Given the description of an element on the screen output the (x, y) to click on. 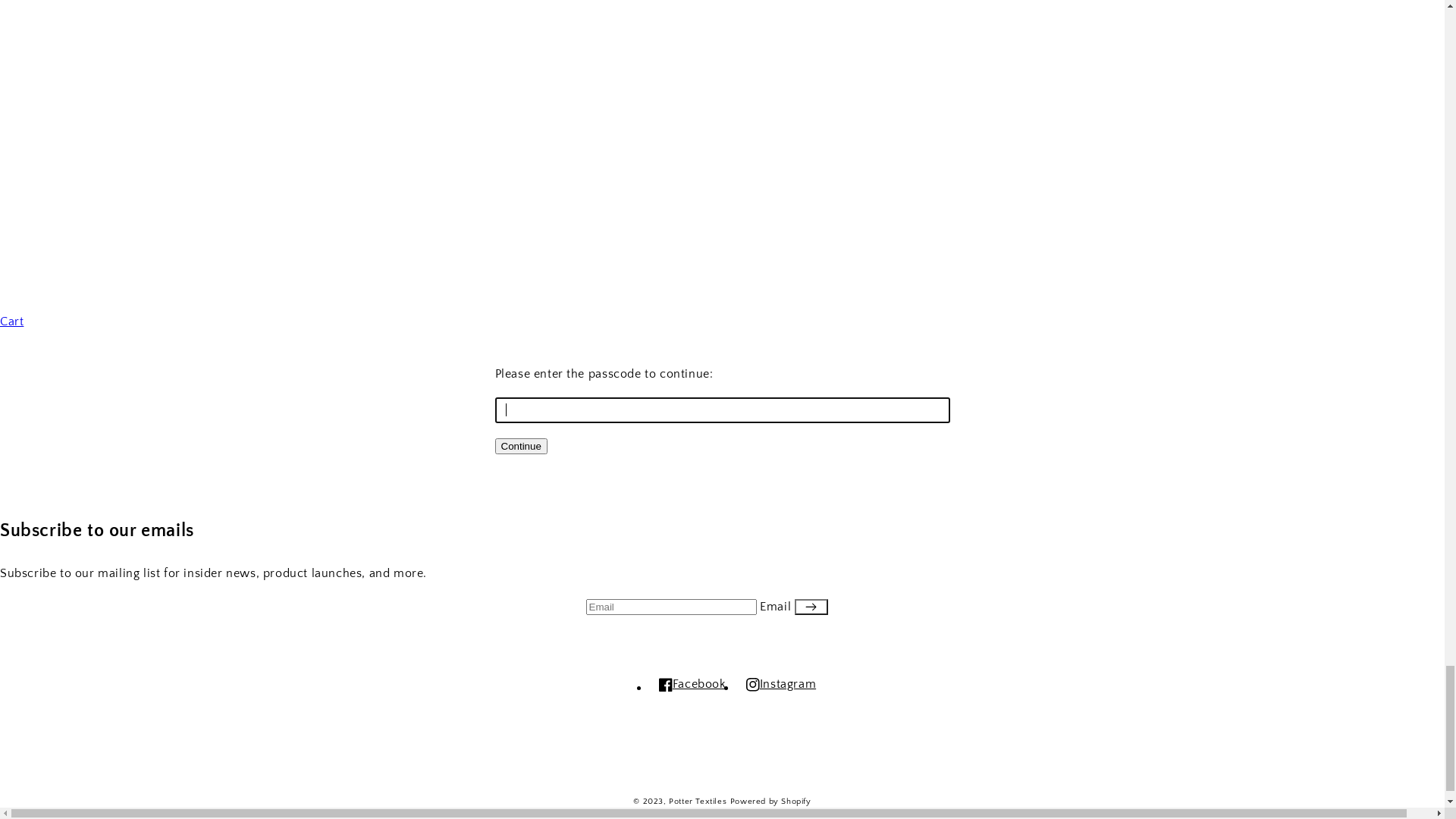
Skip to content Element type: text (722, 10)
